Given the description of an element on the screen output the (x, y) to click on. 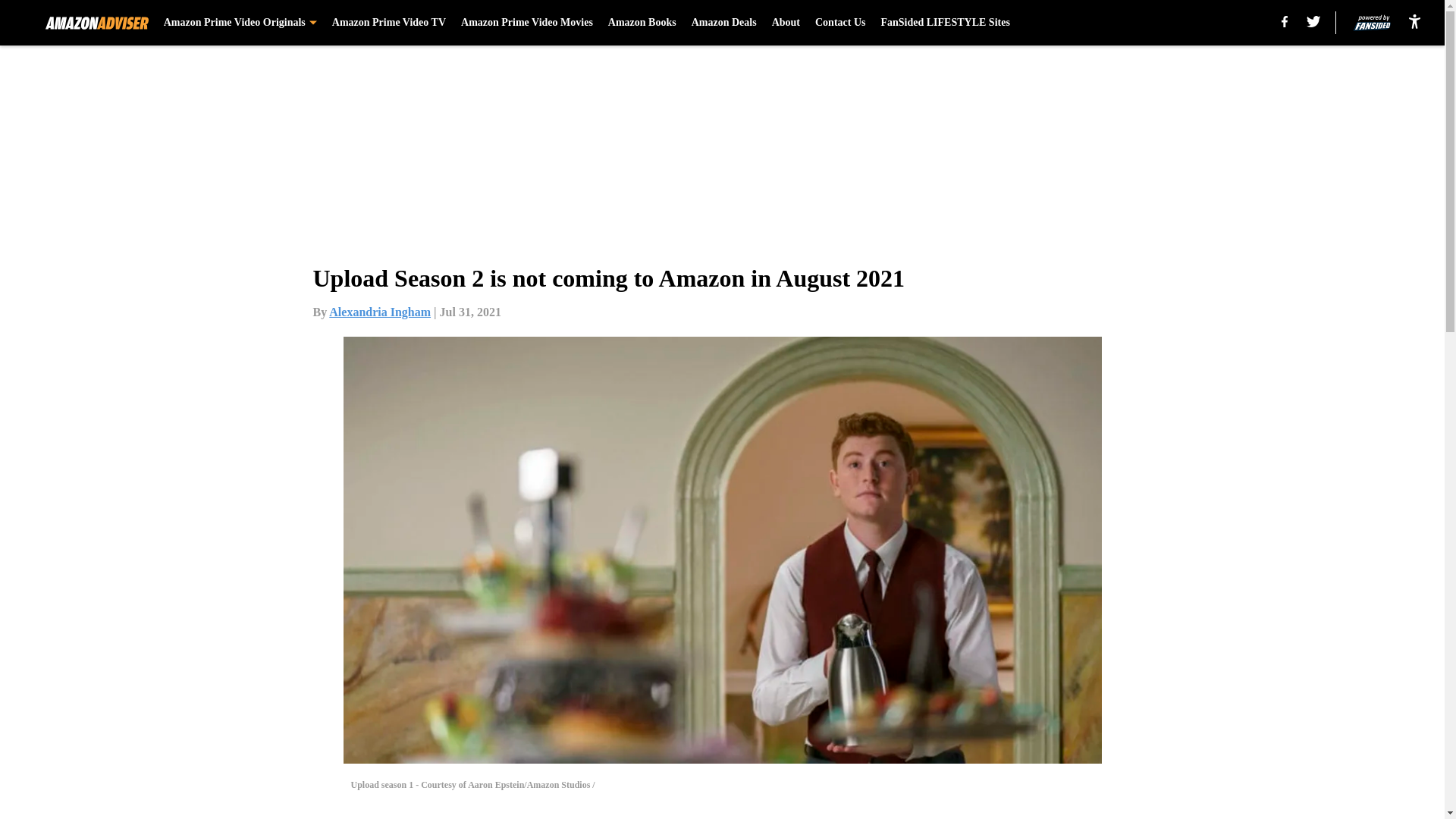
Amazon Prime Video Movies (526, 22)
FanSided LIFESTYLE Sites (944, 22)
Alexandria Ingham (379, 311)
Amazon Deals (724, 22)
Contact Us (840, 22)
Amazon Prime Video TV (388, 22)
Amazon Books (642, 22)
About (785, 22)
